Given the description of an element on the screen output the (x, y) to click on. 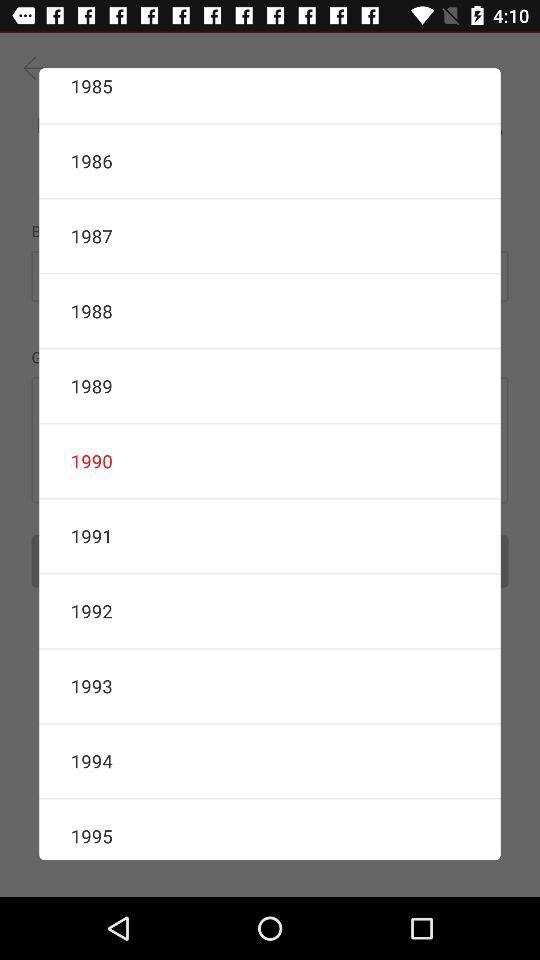
launch the icon below the 1994 icon (269, 829)
